Given the description of an element on the screen output the (x, y) to click on. 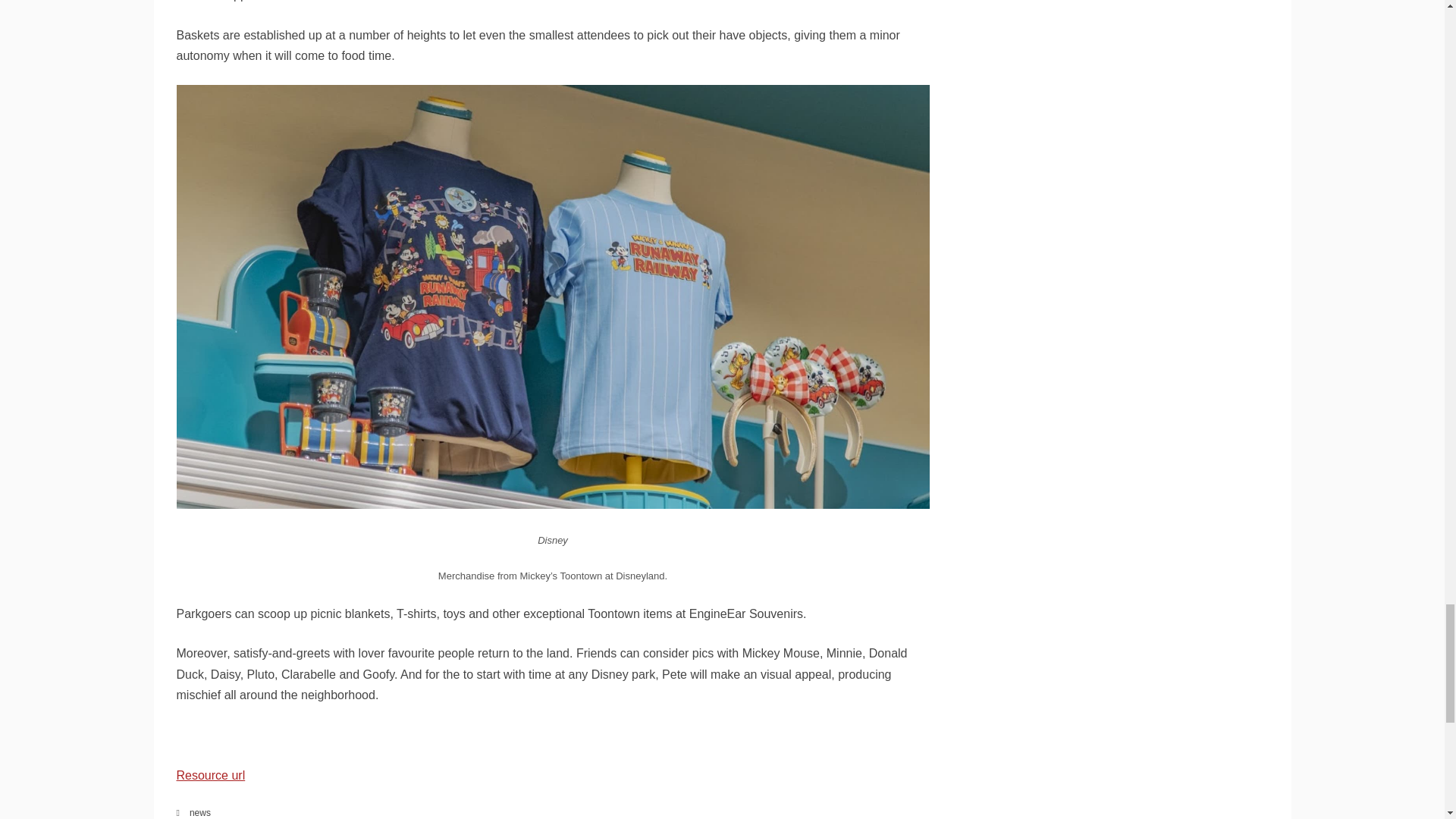
Resource url (210, 775)
news (200, 812)
